Given the description of an element on the screen output the (x, y) to click on. 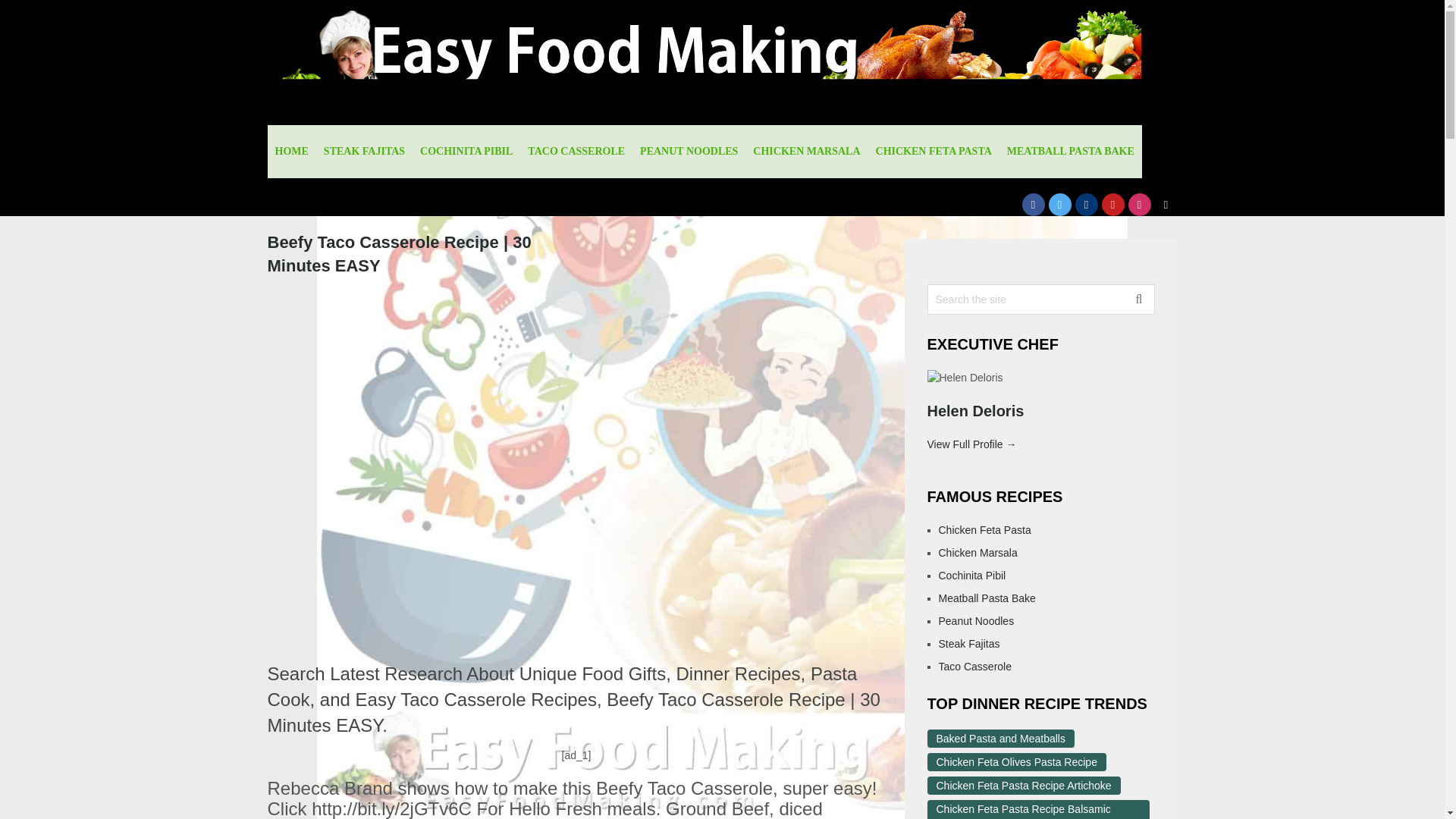
STEAK FAJITAS (363, 151)
MEATBALL PASTA BAKE (1069, 151)
HOME (290, 151)
TACO CASSEROLE (575, 151)
CHICKEN MARSALA (806, 151)
COCHINITA PIBIL (465, 151)
CHICKEN FETA PASTA (932, 151)
PEANUT NOODLES (688, 151)
